Given the description of an element on the screen output the (x, y) to click on. 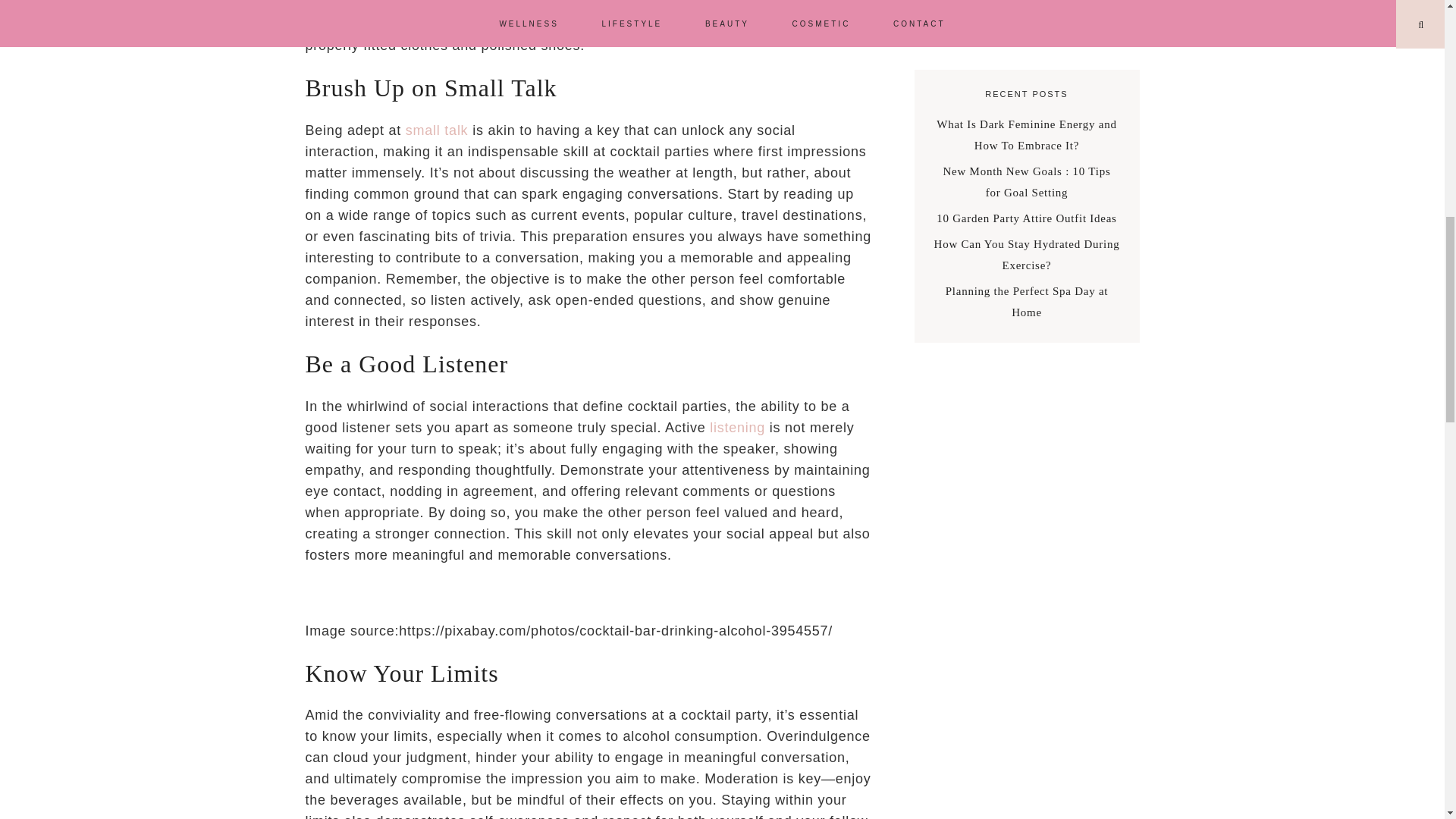
listening (737, 427)
small talk (437, 130)
How Can You Stay Hydrated During Exercise? (1026, 254)
Planning the Perfect Spa Day at Home (1026, 301)
10 Garden Party Attire Outfit Ideas (1026, 218)
New Month New Goals : 10 Tips for Goal Setting (1026, 182)
What Is Dark Feminine Energy and How To Embrace It? (1026, 134)
